Given the description of an element on the screen output the (x, y) to click on. 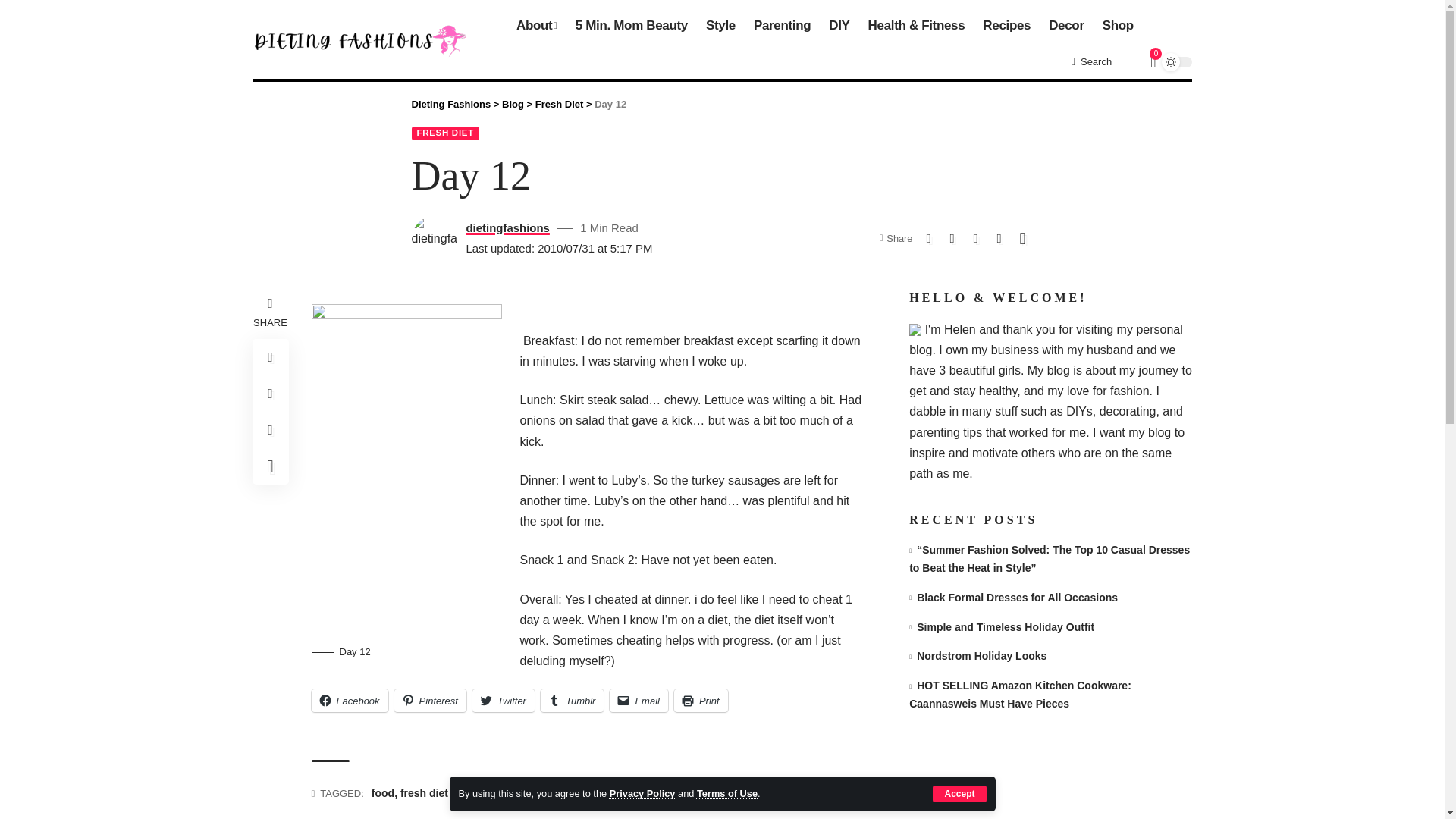
Click to share on Facebook (349, 700)
Click to share on Twitter (502, 700)
Decor (1066, 26)
Style (720, 26)
Click to share on Pinterest (429, 700)
Recipes (1006, 26)
Search (1091, 62)
Go to Blog. (513, 103)
Click to email a link to a friend (639, 700)
Click to share on Tumblr (572, 700)
